Given the description of an element on the screen output the (x, y) to click on. 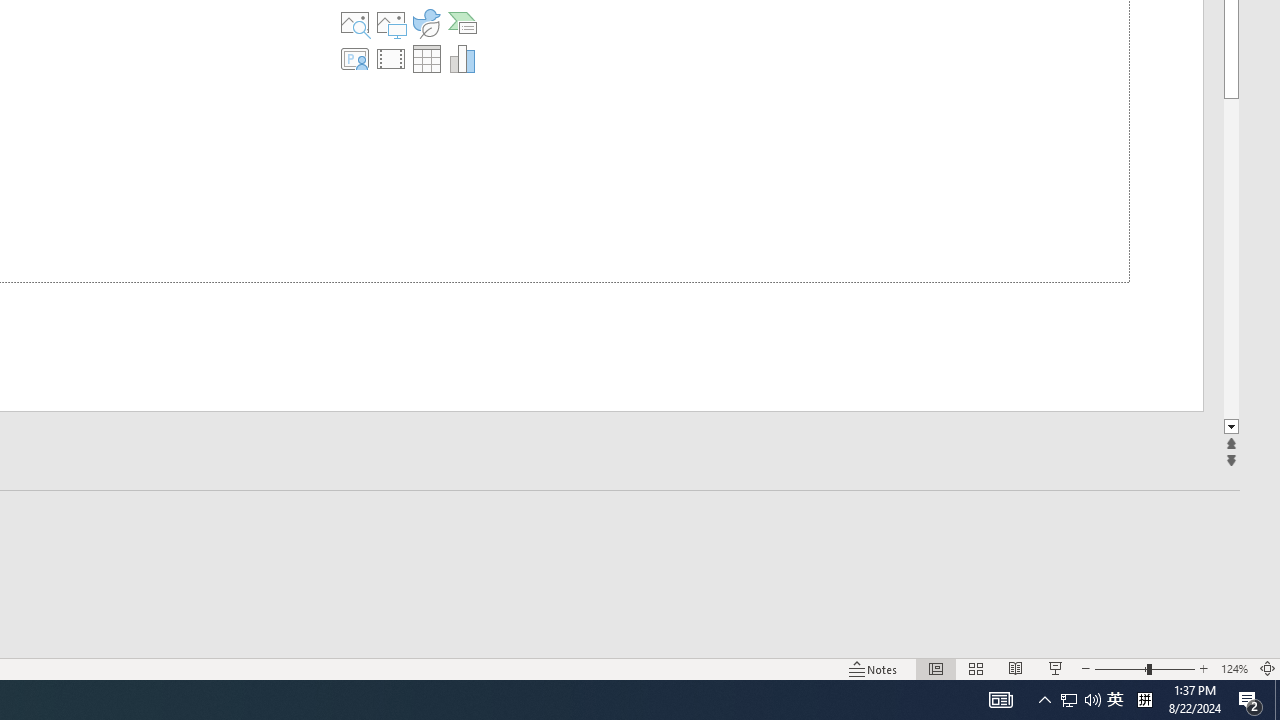
Stock Images (355, 22)
Insert a SmartArt Graphic (462, 22)
